Given the description of an element on the screen output the (x, y) to click on. 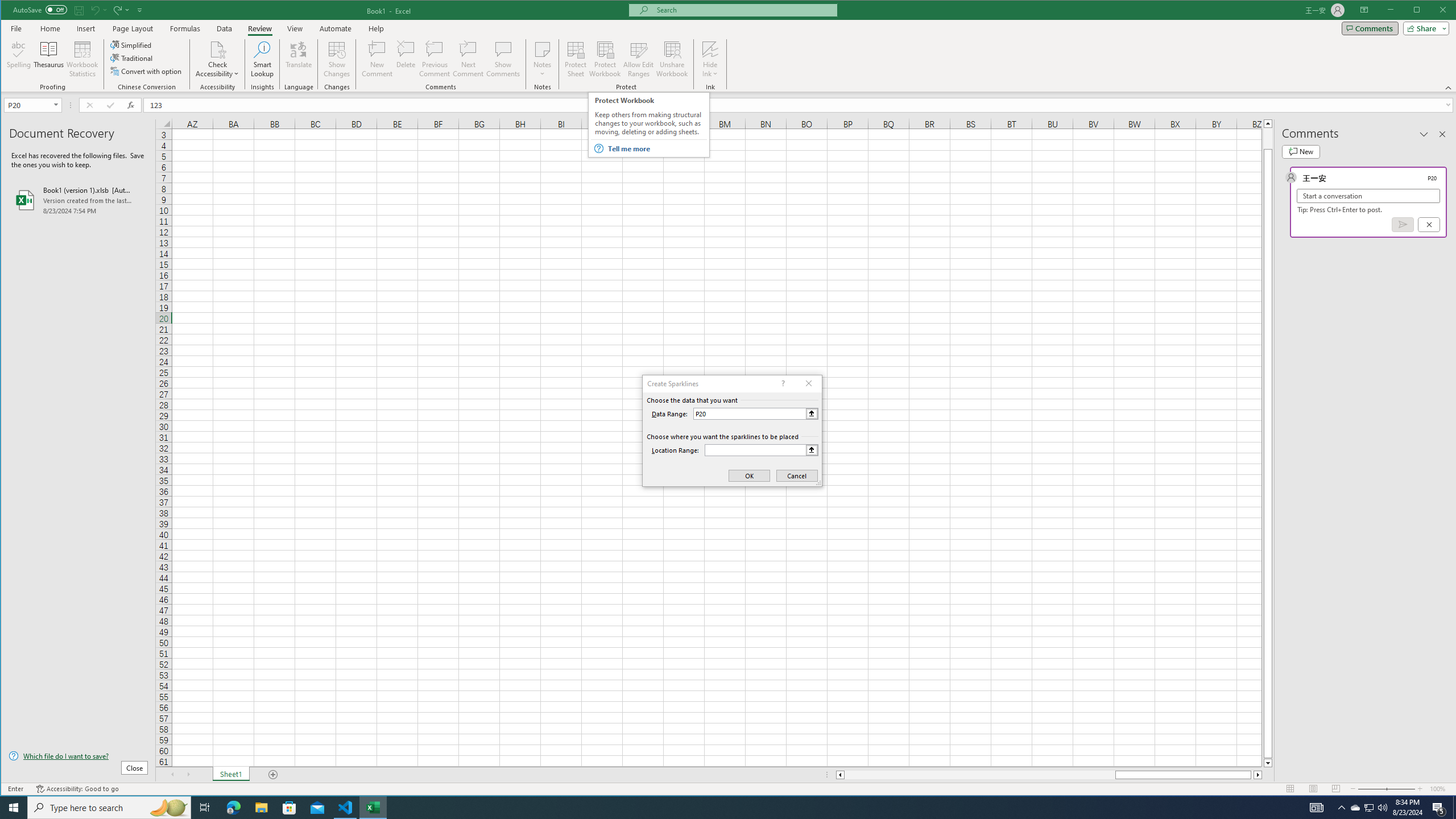
AutoSave (39, 9)
New comment (1300, 151)
Previous Comment (434, 59)
Which file do I want to save? (78, 755)
Page up (1267, 138)
